Given the description of an element on the screen output the (x, y) to click on. 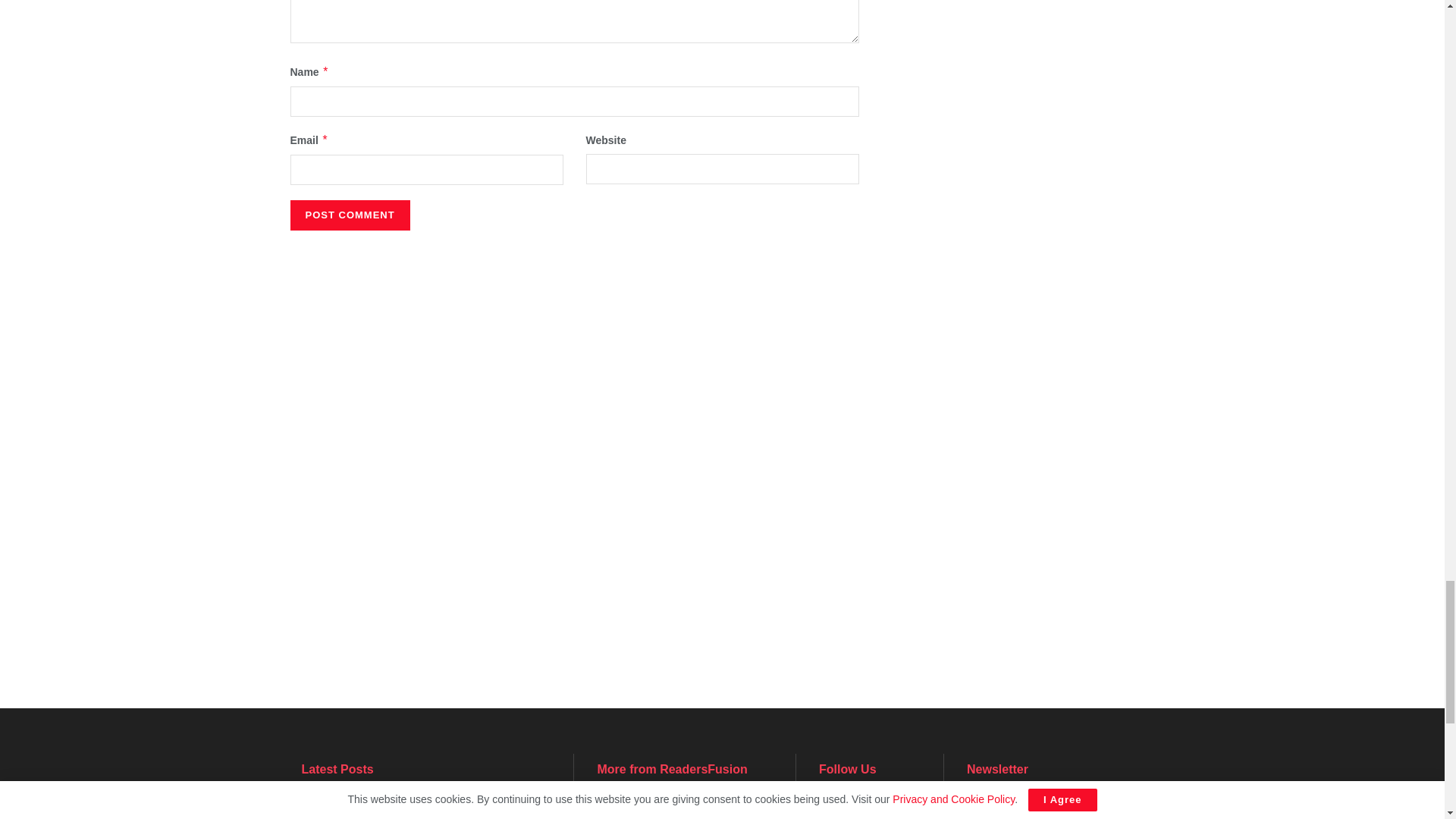
Post Comment (349, 214)
